Given the description of an element on the screen output the (x, y) to click on. 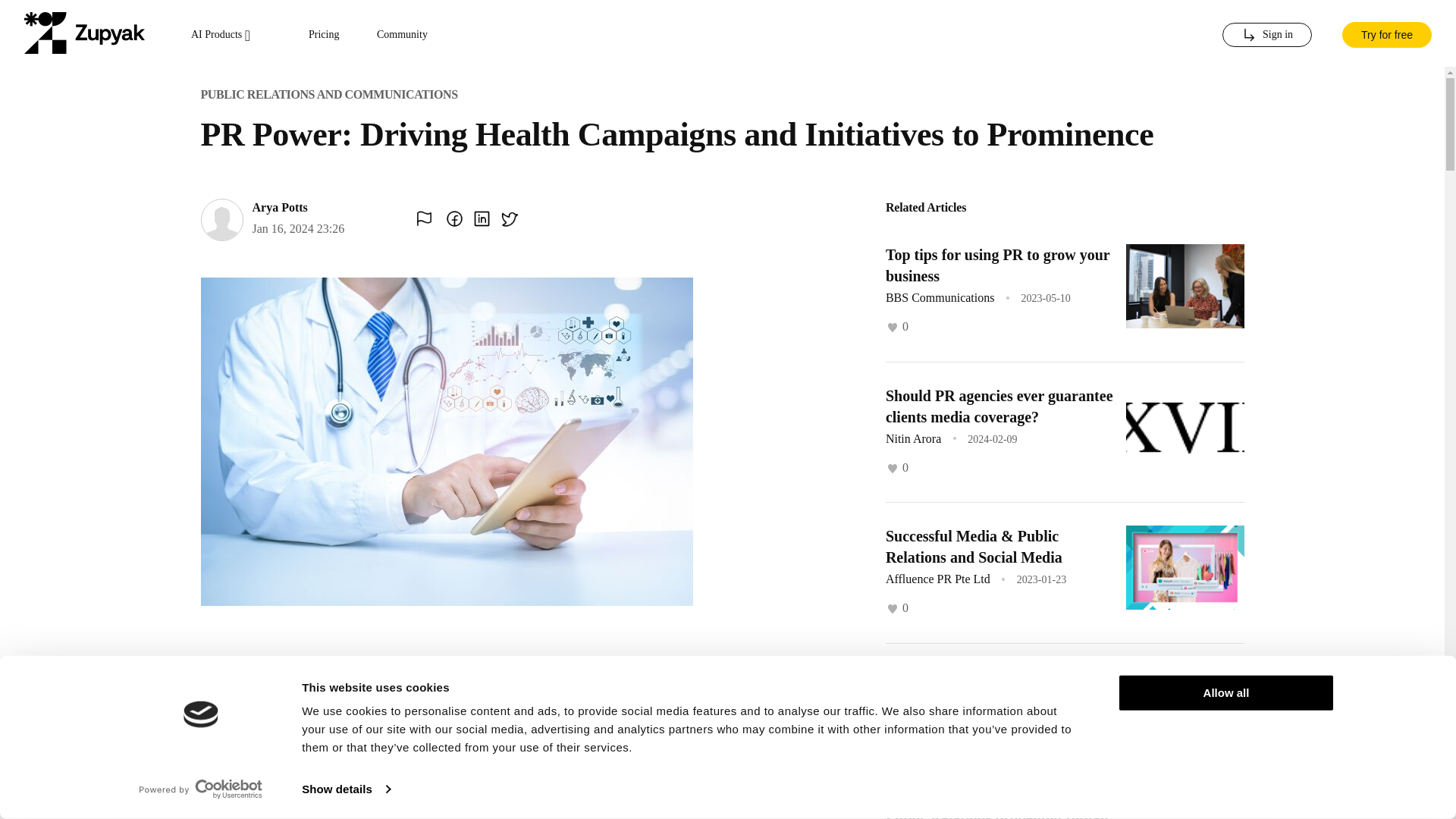
The Future of Public Relations: Trends to Watch (987, 687)
Should PR agencies ever guarantee clients media coverage? (999, 405)
Show details (345, 789)
Top tips for using PR to grow your business (997, 265)
Public Relations propelling Indian startups (996, 814)
